Given the description of an element on the screen output the (x, y) to click on. 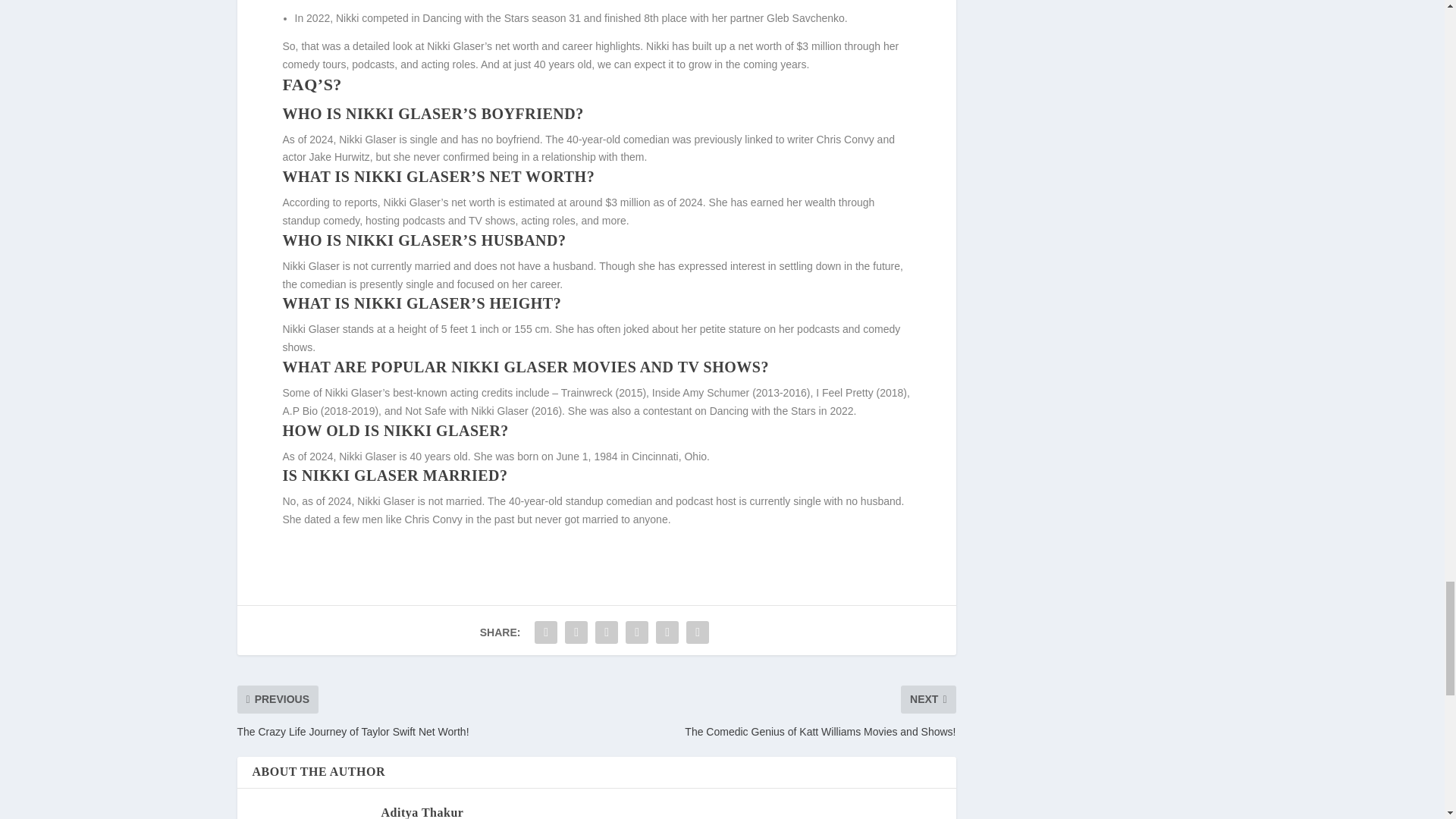
Aditya Thakur (421, 812)
View all posts by Aditya Thakur (421, 812)
